Given the description of an element on the screen output the (x, y) to click on. 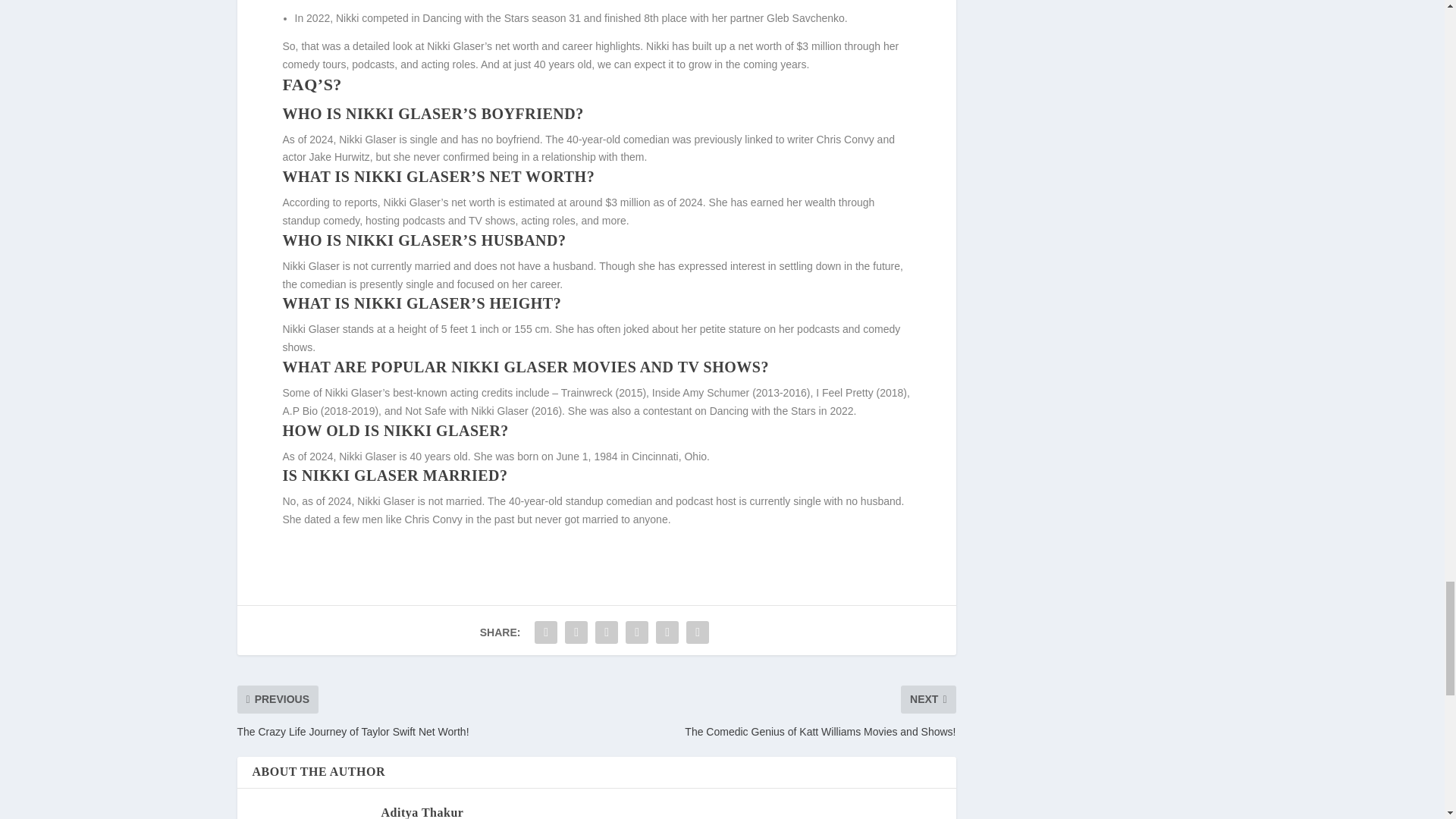
Aditya Thakur (421, 812)
View all posts by Aditya Thakur (421, 812)
